Given the description of an element on the screen output the (x, y) to click on. 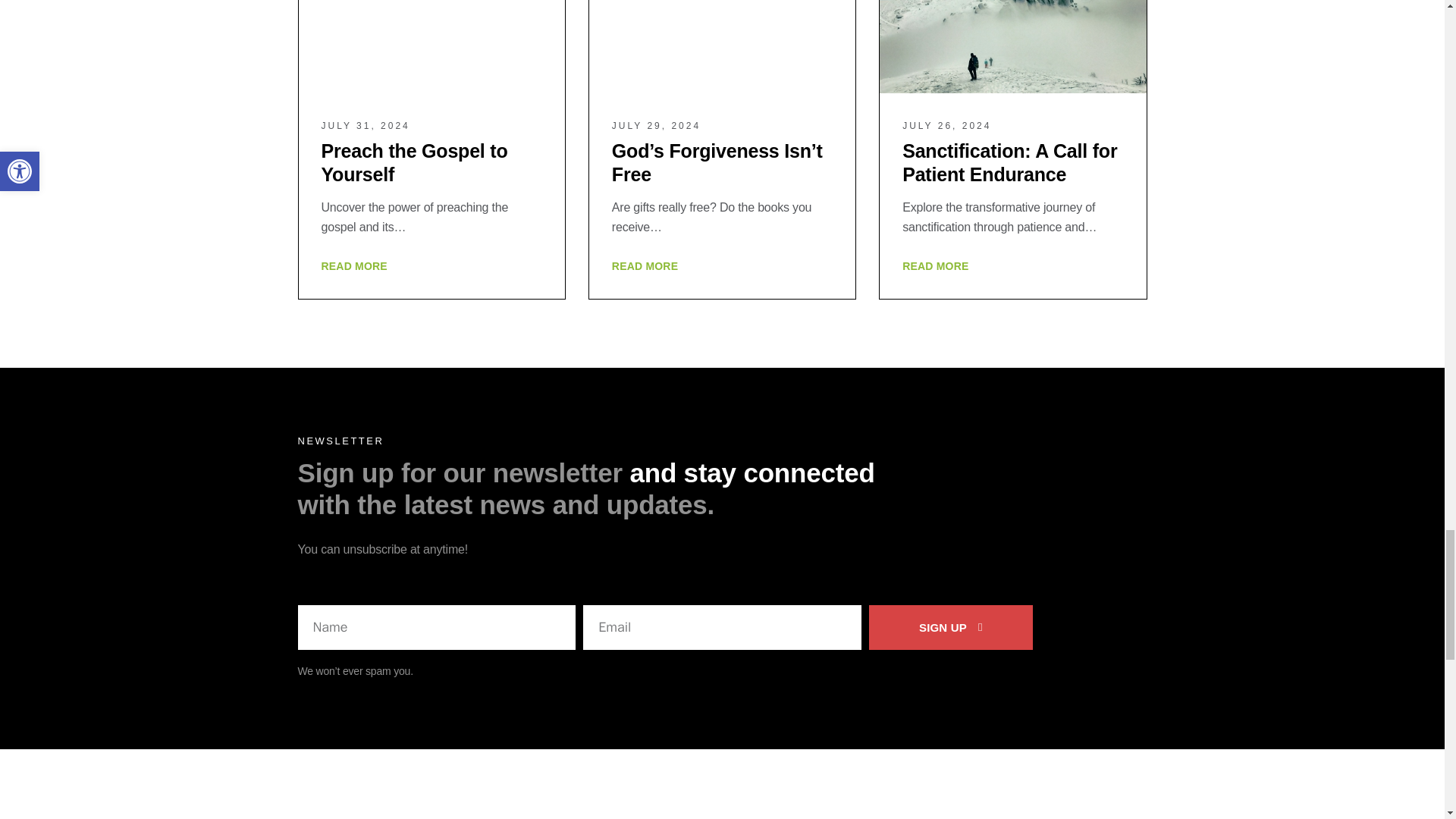
SIGN UP (950, 627)
READ MORE (935, 266)
READ MORE (644, 266)
READ MORE (354, 266)
